Given the description of an element on the screen output the (x, y) to click on. 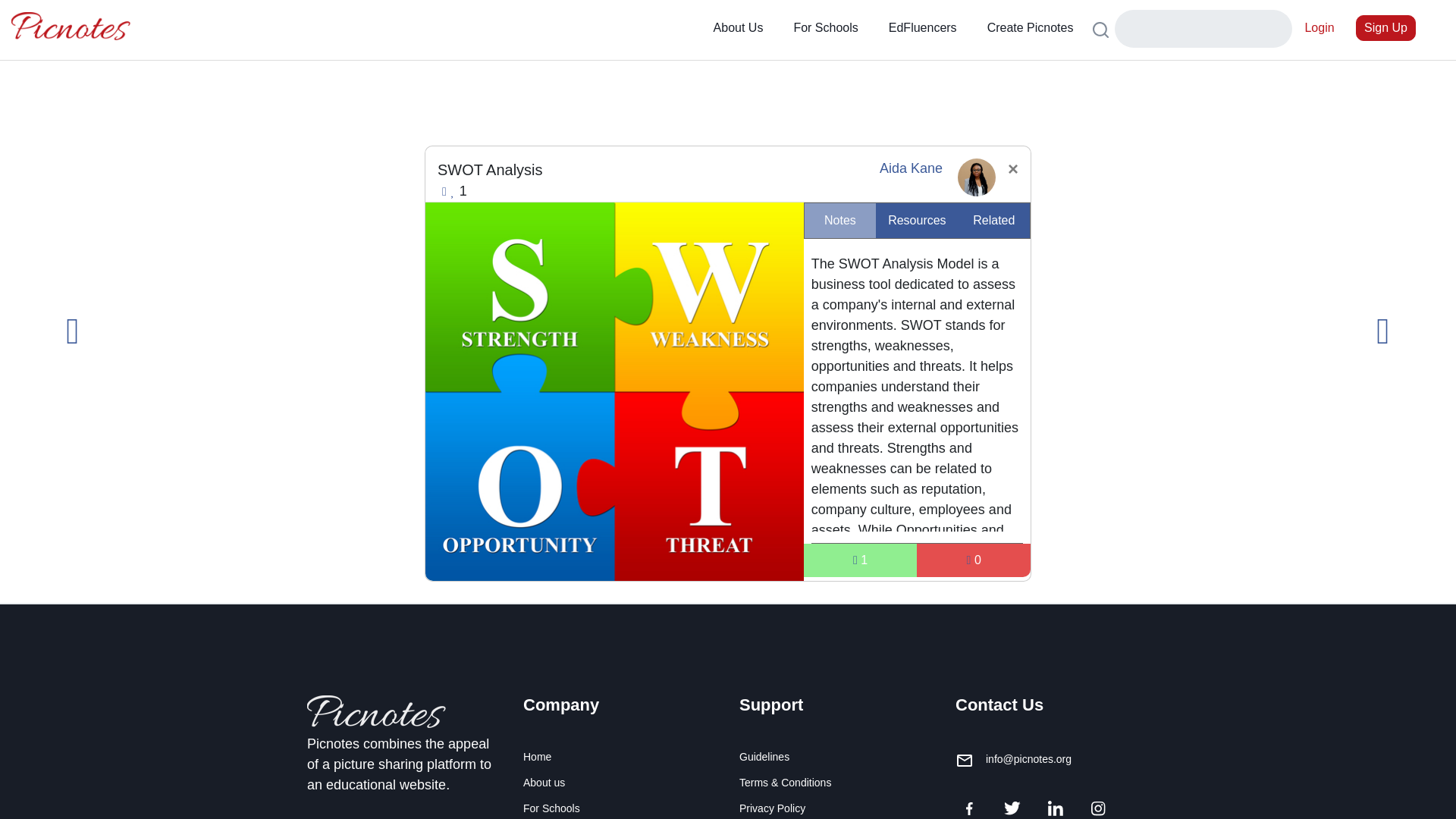
Notes (840, 220)
Aida Kane (910, 168)
Related (993, 220)
For Schools (824, 27)
Create Picnotes (1030, 27)
About Us (738, 27)
Resources (917, 220)
Sign Up (1385, 27)
Login (1319, 28)
EdFluencers (922, 27)
